Given the description of an element on the screen output the (x, y) to click on. 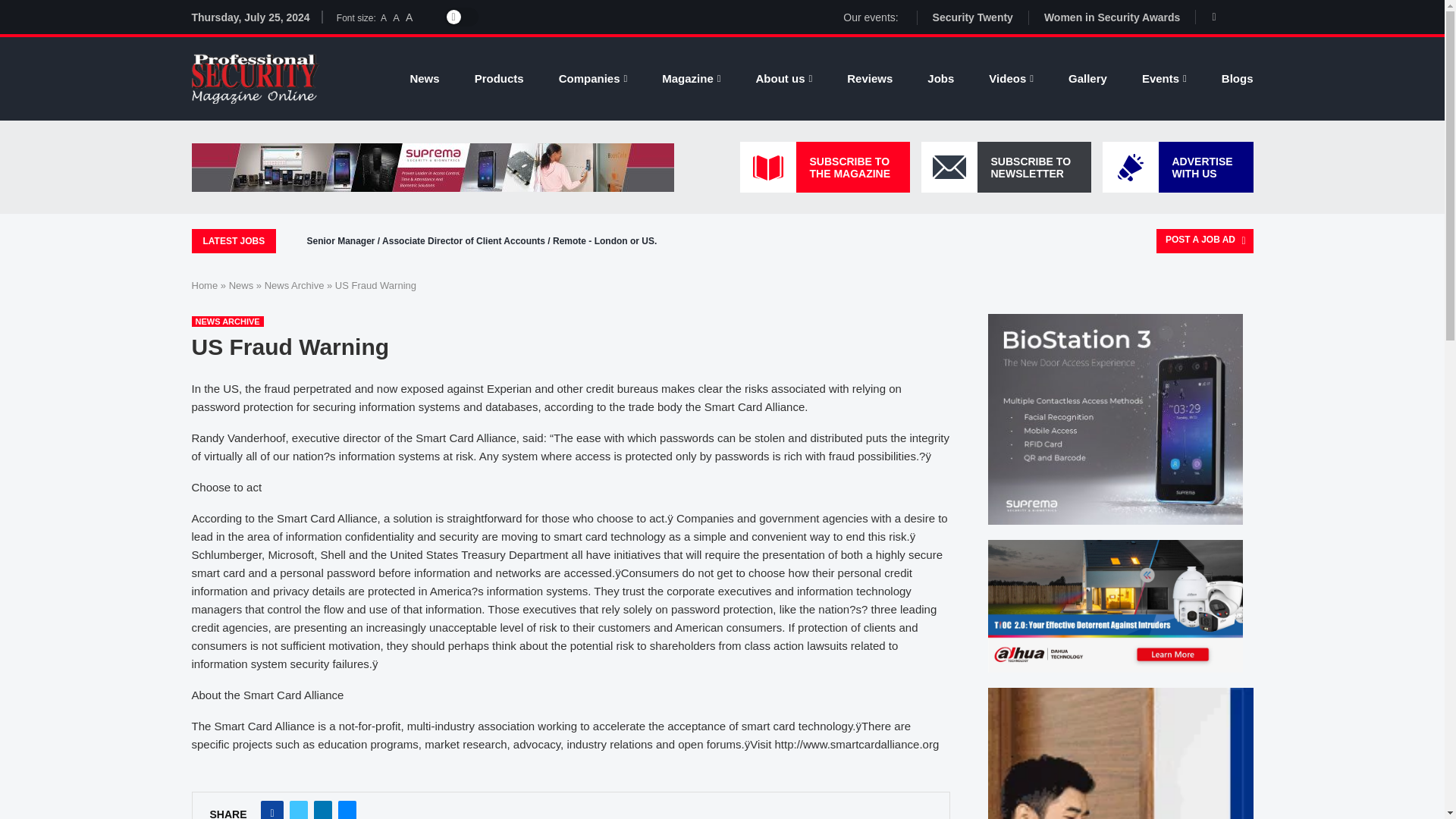
Women in Security Awards (1111, 16)
Security Twenty (973, 16)
